Given the description of an element on the screen output the (x, y) to click on. 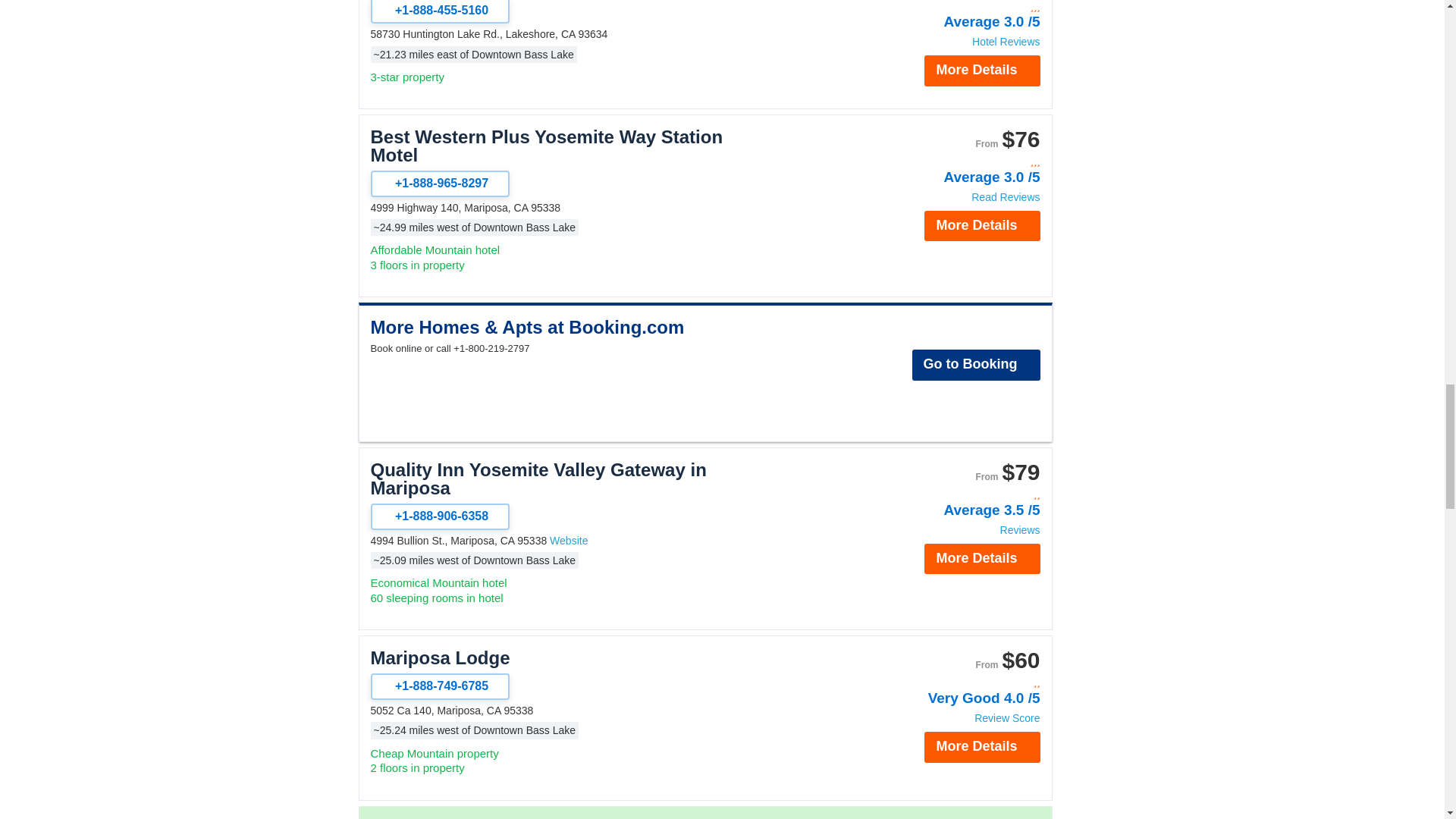
2 stars (958, 494)
2 stars (958, 682)
3 stars (958, 6)
3 stars (958, 161)
